Given the description of an element on the screen output the (x, y) to click on. 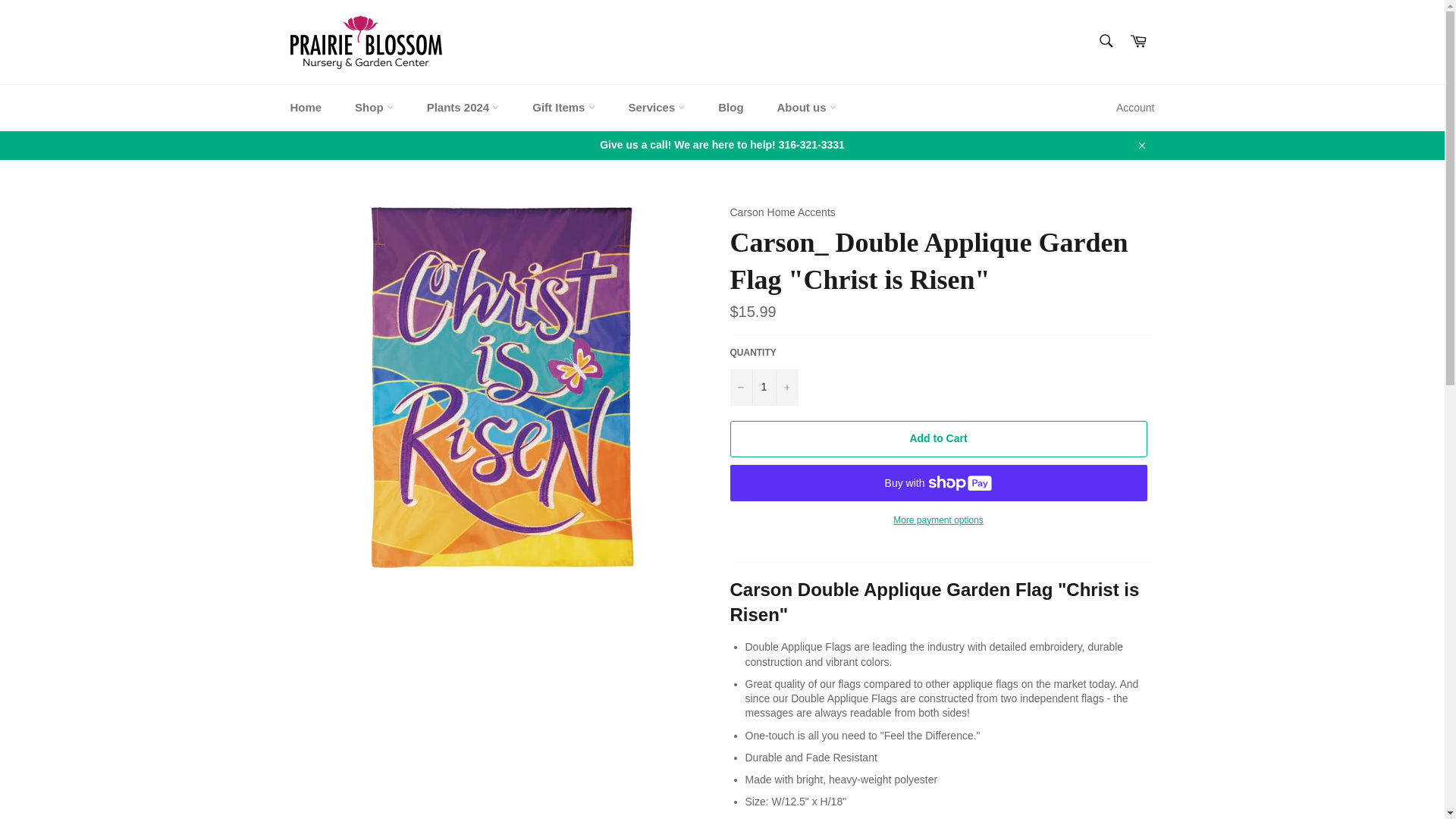
1 (763, 387)
Smile.io Rewards Program Launcher (1374, 780)
